Given the description of an element on the screen output the (x, y) to click on. 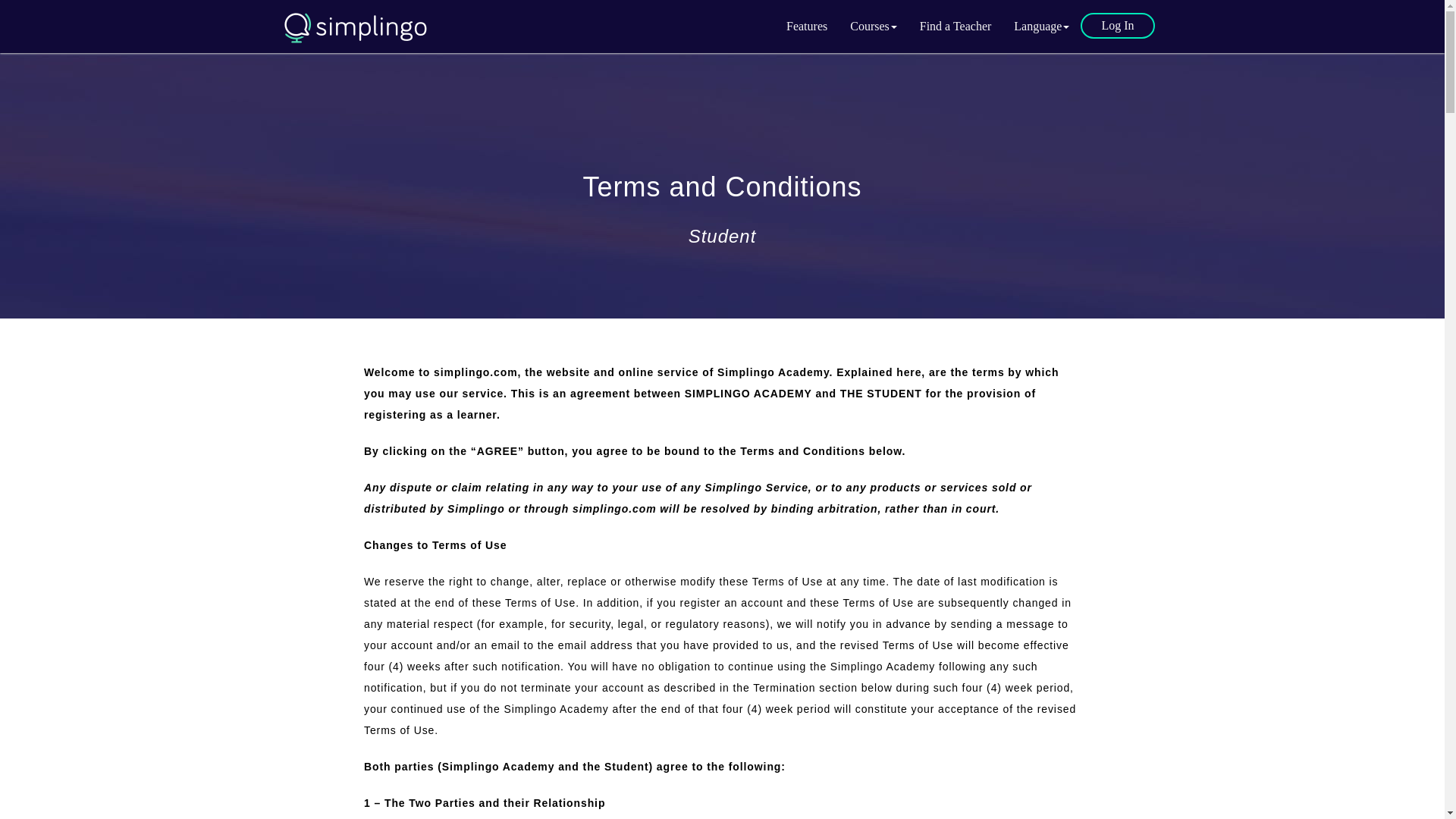
Features (806, 26)
Log In (1117, 25)
Language (1041, 26)
Find a Teacher (955, 26)
Courses (873, 26)
